Given the description of an element on the screen output the (x, y) to click on. 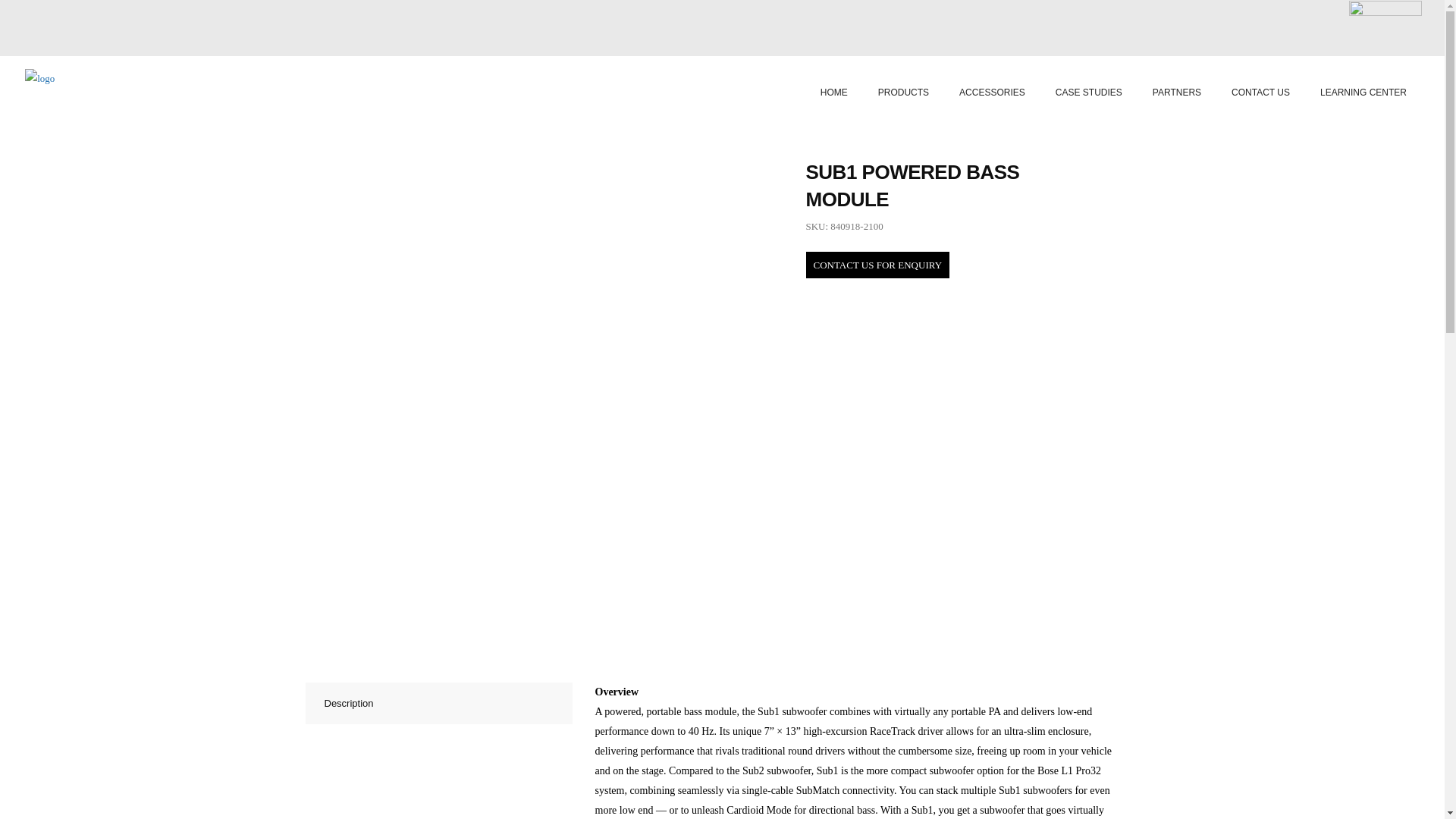
Sub1 Powered Bass Module (877, 264)
PRODUCTS (903, 91)
ACCESSORIES (992, 91)
